Given the description of an element on the screen output the (x, y) to click on. 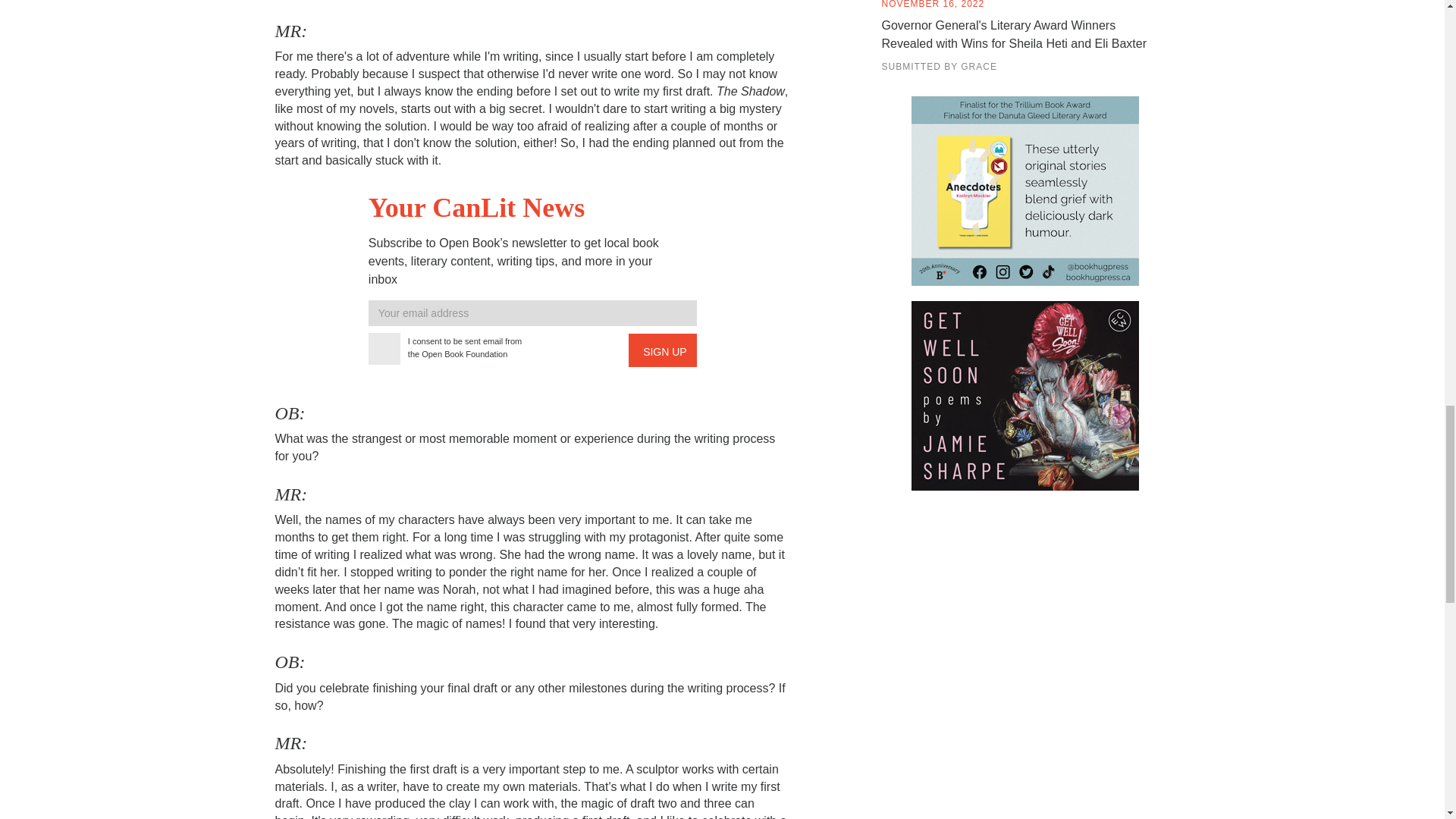
SIGN UP (662, 349)
